Given the description of an element on the screen output the (x, y) to click on. 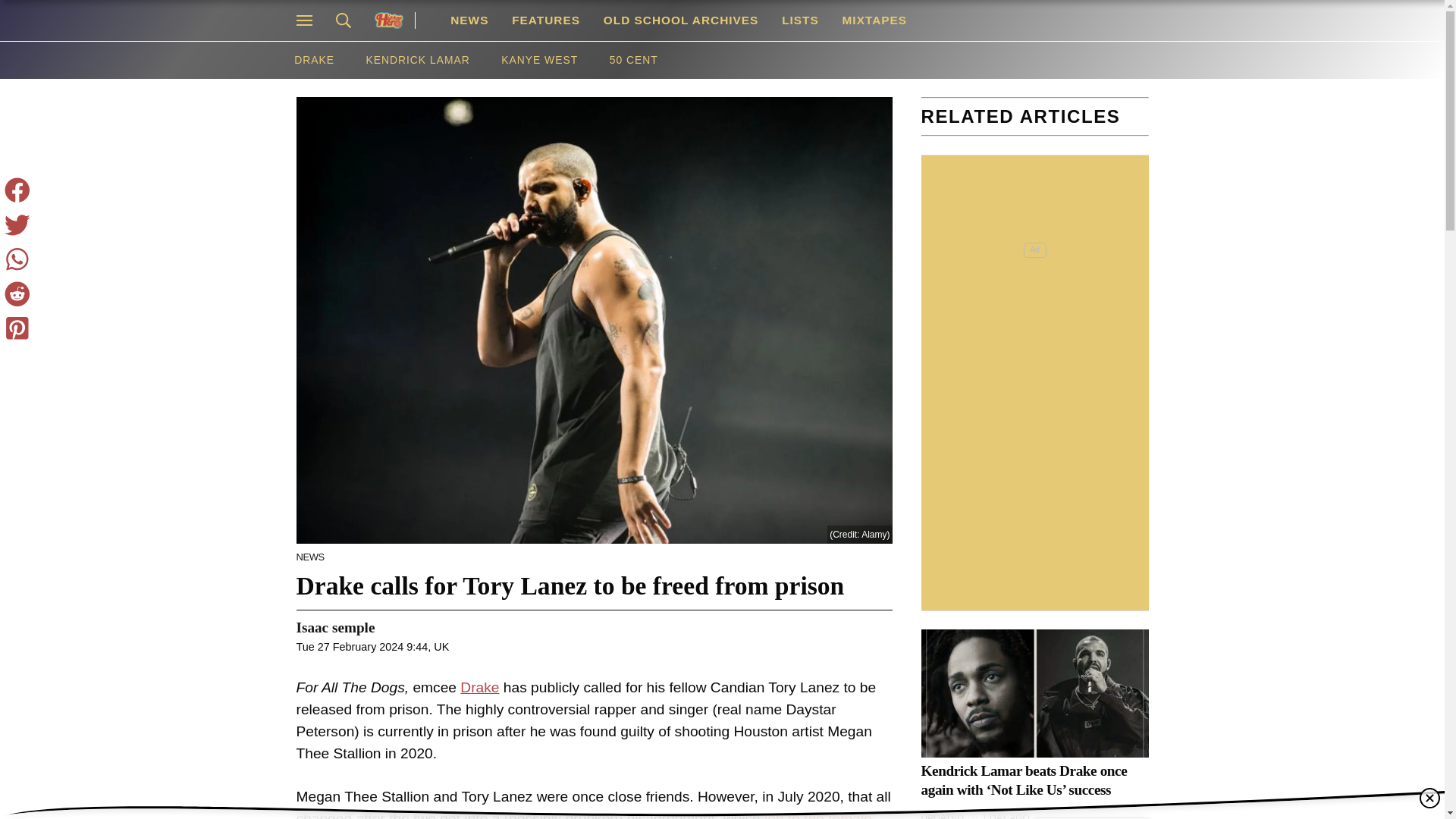
Hip Hop Hero (394, 20)
NEWS (469, 20)
led to the female rapper getting shot in the foot. (582, 814)
MIXTAPES (873, 20)
Drake (479, 687)
Isaac semple (334, 628)
LISTS (799, 20)
DRAKE (313, 59)
FEATURES (546, 20)
Posts by Isaac semple (334, 628)
50 CENT (634, 59)
KANYE WEST (538, 59)
OLD SCHOOL ARCHIVES (680, 20)
NEWS (309, 556)
KENDRICK LAMAR (418, 59)
